Given the description of an element on the screen output the (x, y) to click on. 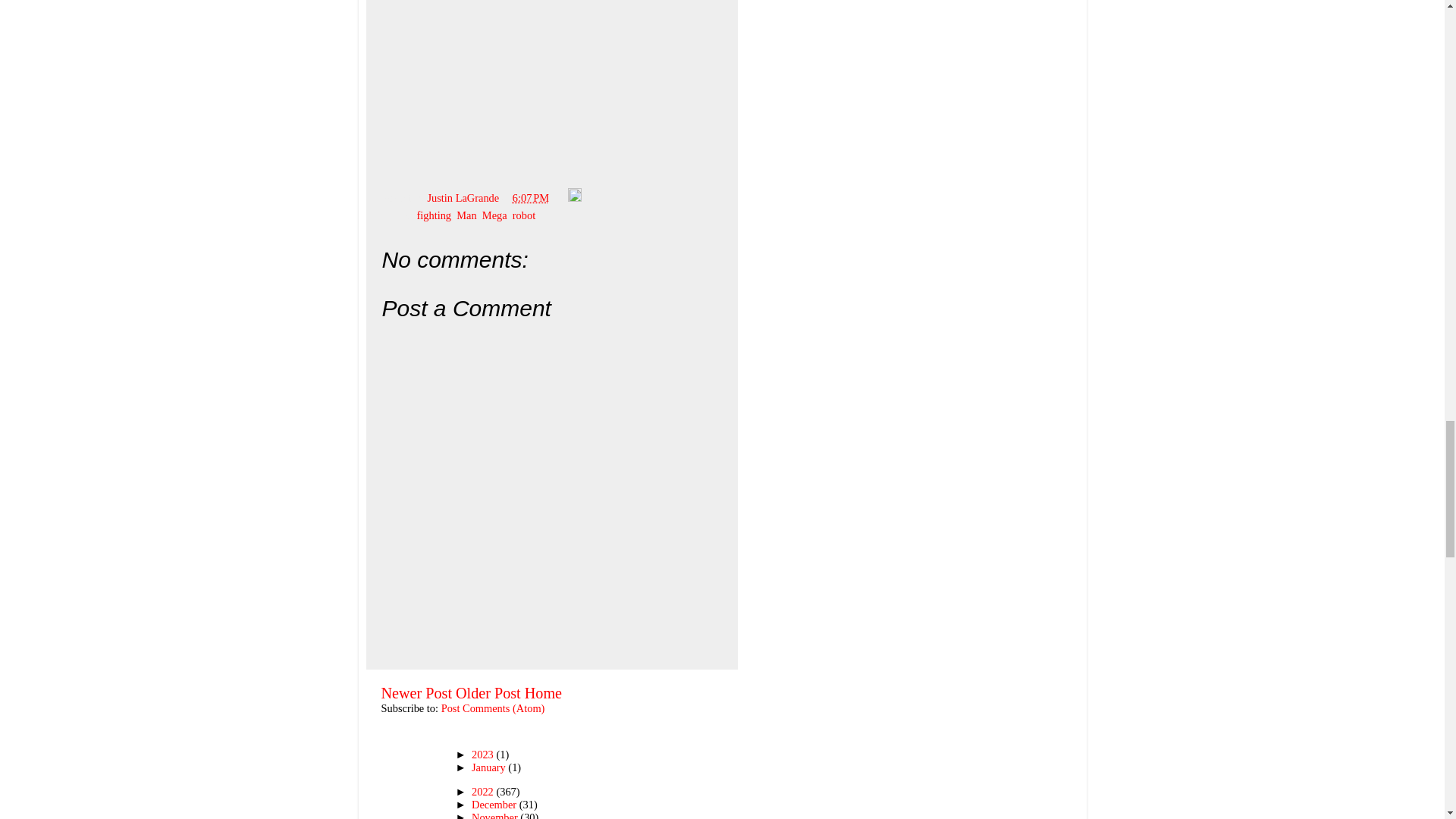
Man (466, 215)
Older Post (488, 692)
Home (543, 692)
Mega (493, 215)
Newer Post (415, 692)
Older Post (488, 692)
Newer Post (415, 692)
permanent link (530, 197)
December (495, 804)
Justin LaGrande (463, 197)
fighting (433, 215)
Edit Post (573, 197)
January (489, 767)
robot (523, 215)
